Given the description of an element on the screen output the (x, y) to click on. 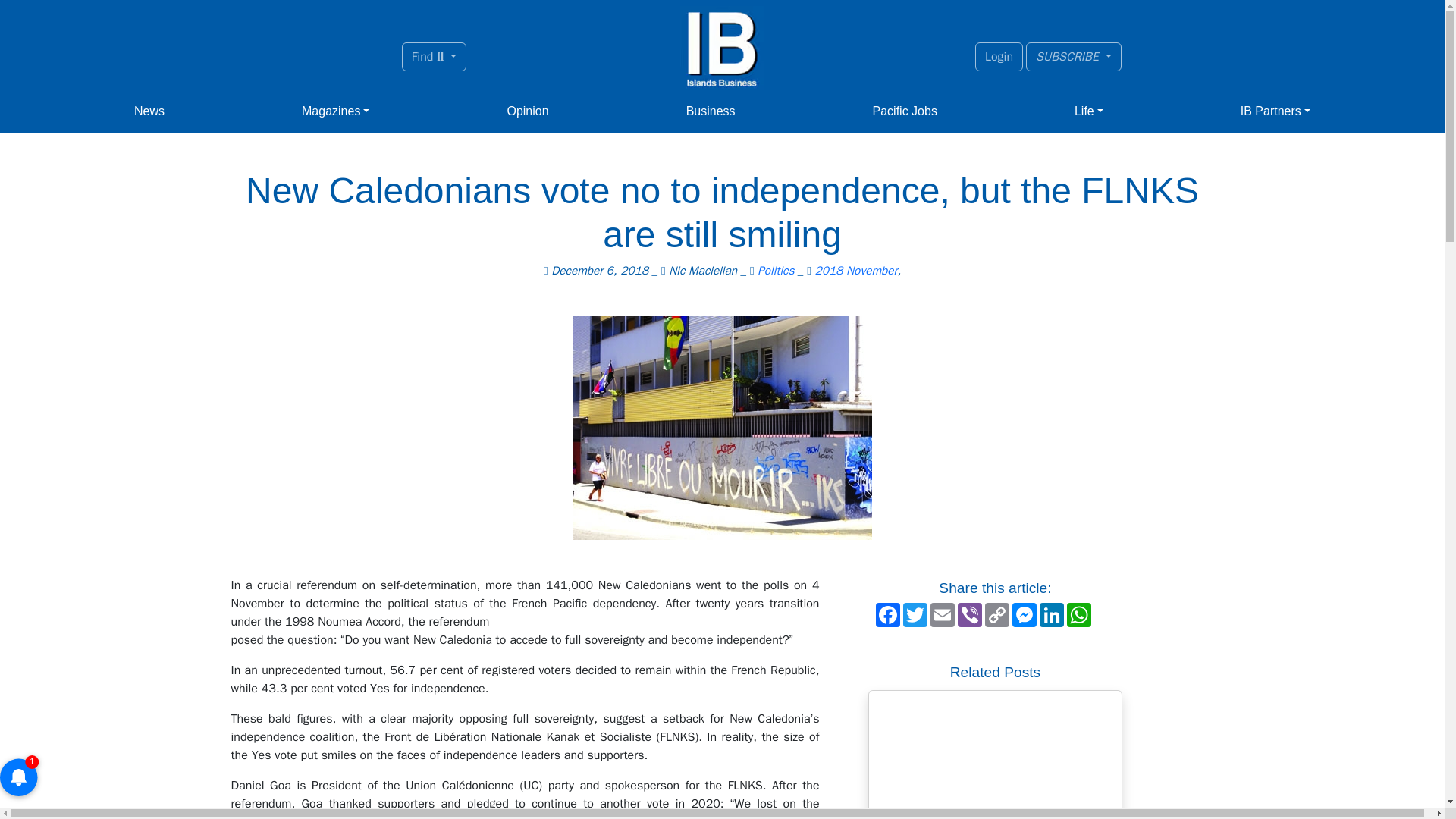
Magazines (335, 111)
Pacific Jobs (904, 111)
Life (1088, 111)
Login (999, 56)
Login (999, 56)
IB Partners (1275, 111)
Find (433, 56)
Opinion (527, 111)
Business (710, 111)
News (149, 111)
SUBSCRIBE (1073, 56)
